Given the description of an element on the screen output the (x, y) to click on. 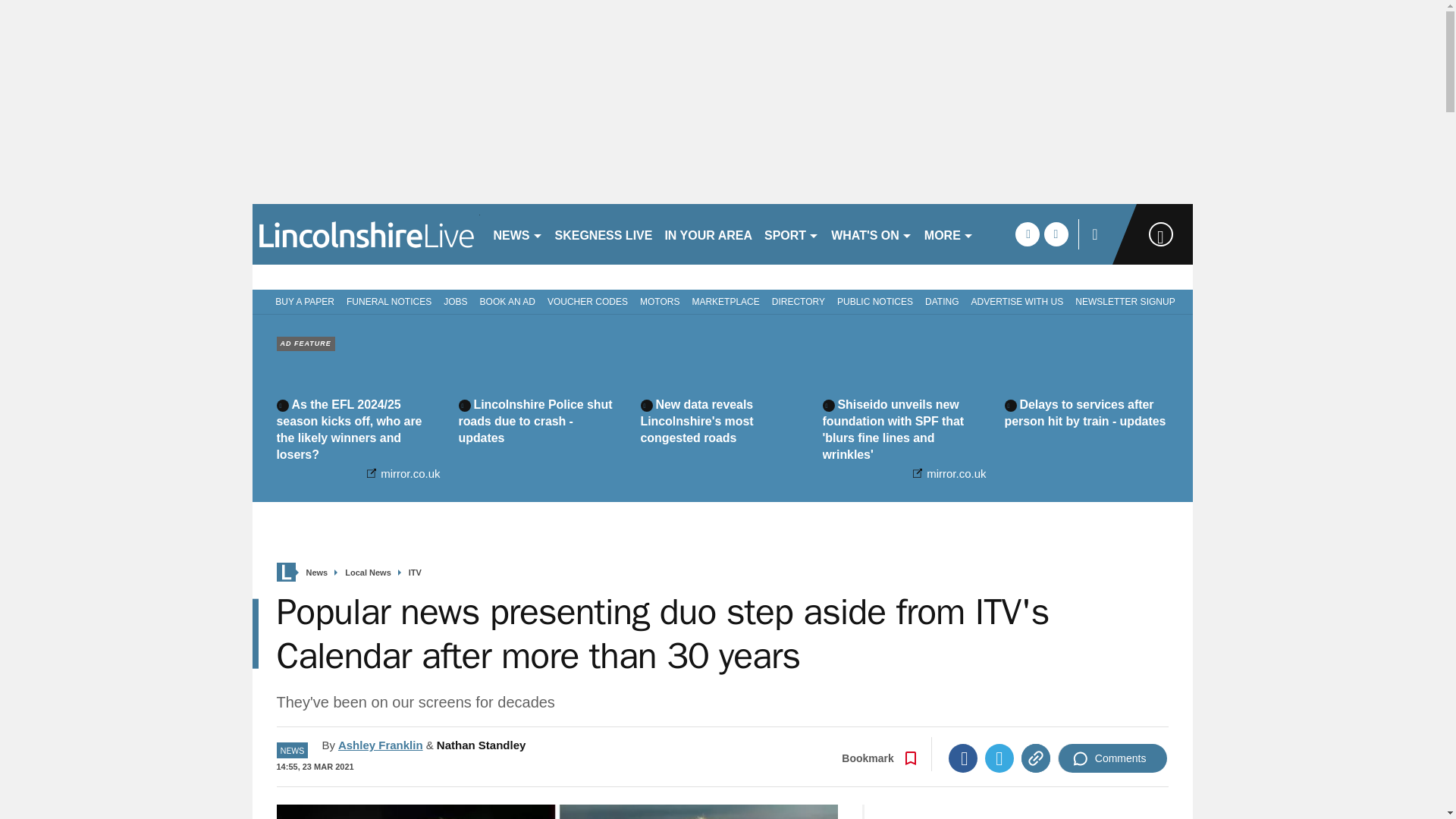
Facebook (962, 758)
lincolnshirelive (365, 233)
SPORT (791, 233)
IN YOUR AREA (708, 233)
NEWS (517, 233)
twitter (1055, 233)
SKEGNESS LIVE (603, 233)
WHAT'S ON (871, 233)
Twitter (999, 758)
Comments (1112, 758)
